Given the description of an element on the screen output the (x, y) to click on. 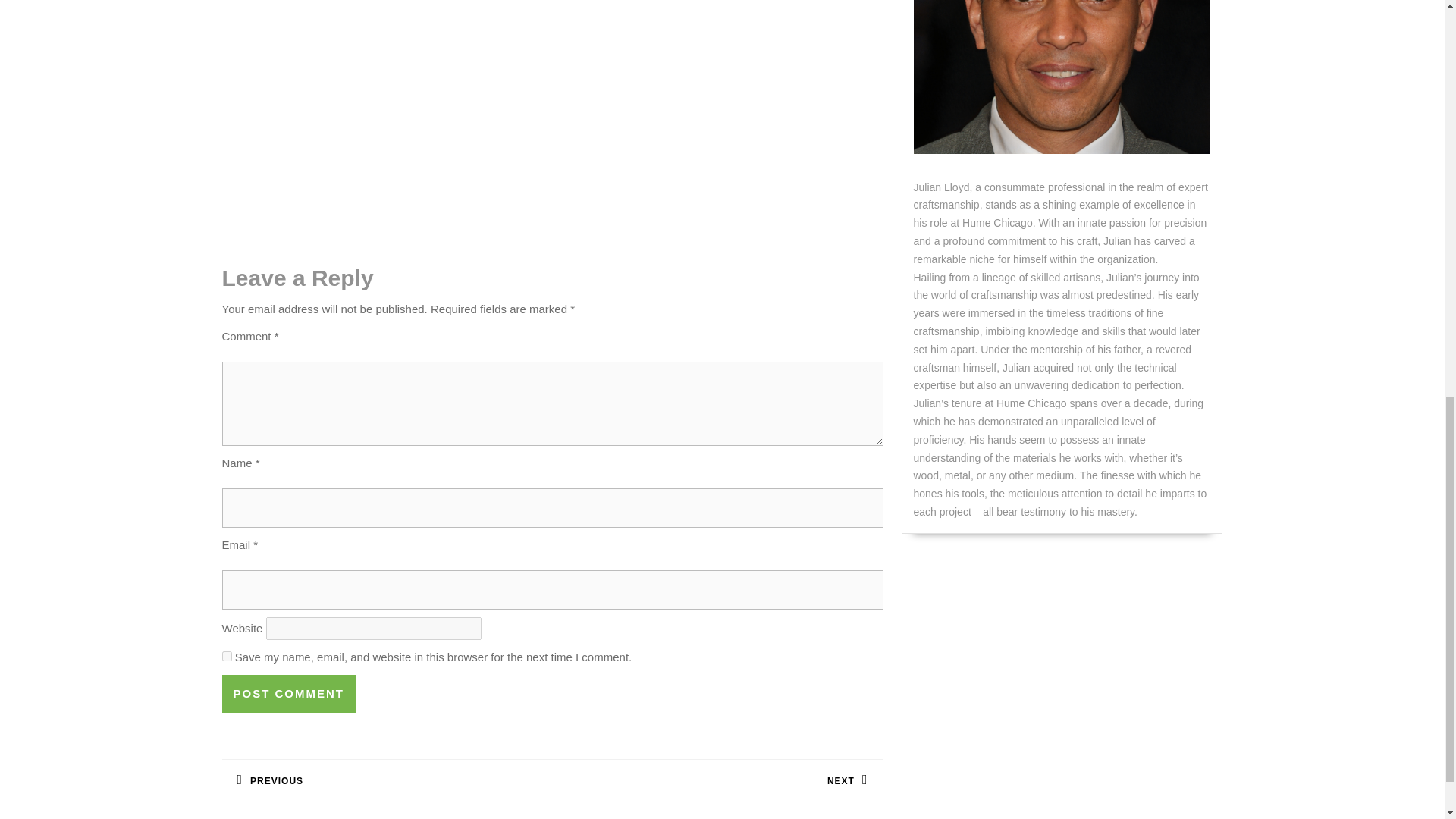
yes (226, 655)
Post Comment (386, 775)
Post Comment (288, 693)
